Given the description of an element on the screen output the (x, y) to click on. 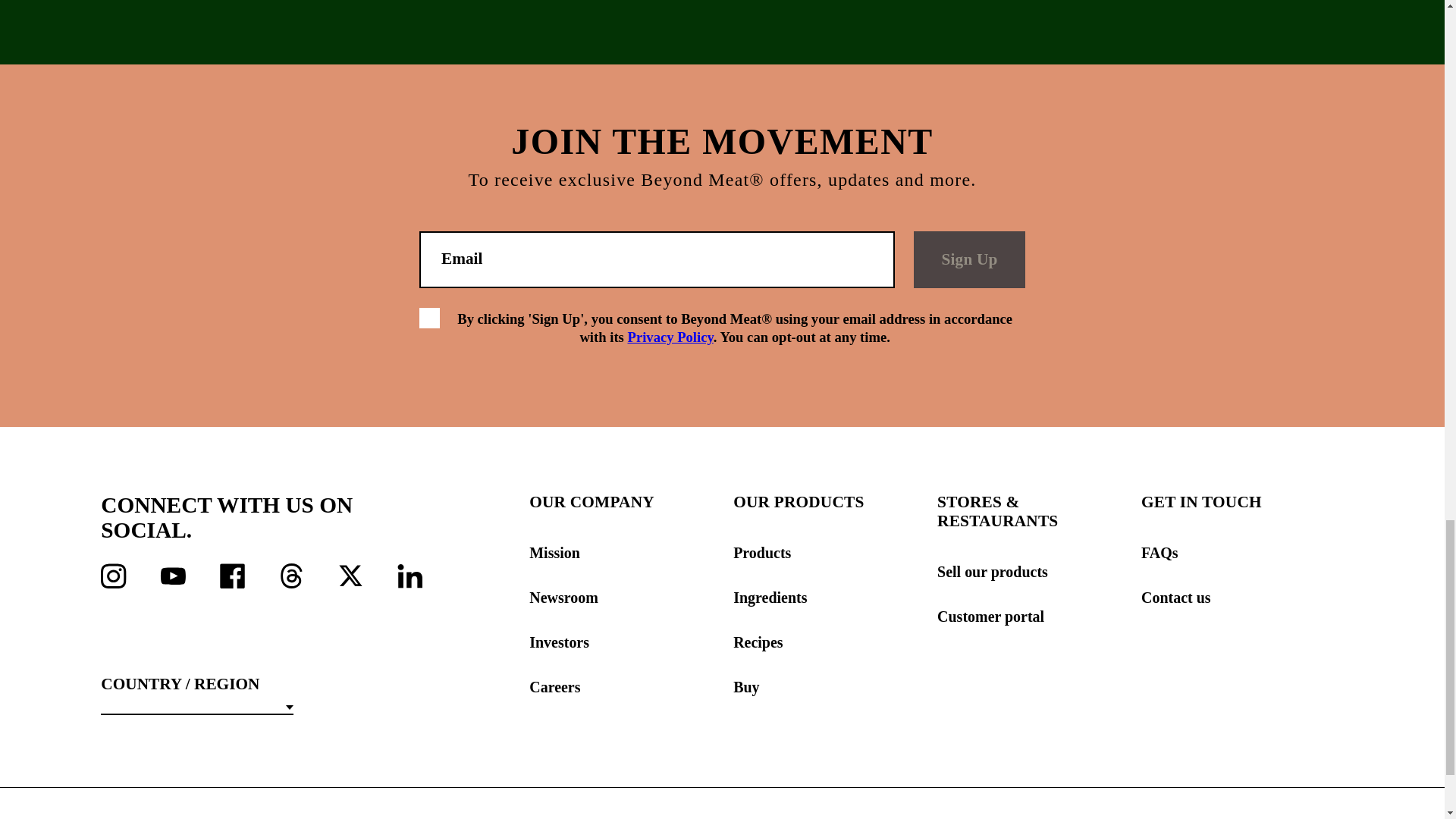
Mission (630, 552)
on (429, 317)
Newsroom (630, 597)
Recipes (834, 642)
Products (834, 552)
Customer portal (1038, 616)
Sell our products (1038, 571)
Buy (834, 687)
Ingredients (834, 597)
Investors (630, 642)
